Given the description of an element on the screen output the (x, y) to click on. 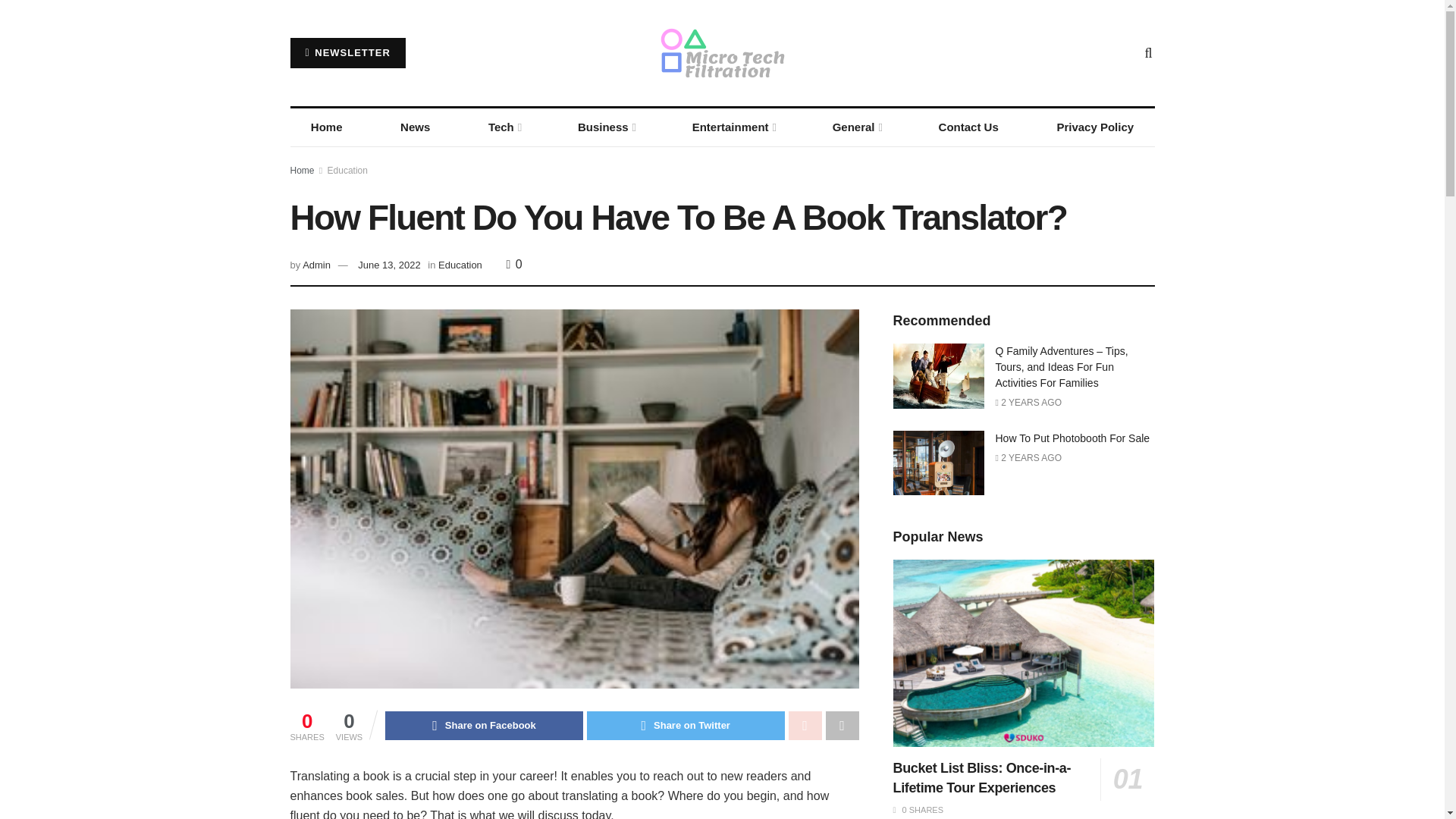
Tech (503, 127)
Privacy Policy (1094, 127)
Home (325, 127)
NEWSLETTER (346, 52)
News (415, 127)
Entertainment (732, 127)
General (855, 127)
Business (606, 127)
Contact Us (968, 127)
